Given the description of an element on the screen output the (x, y) to click on. 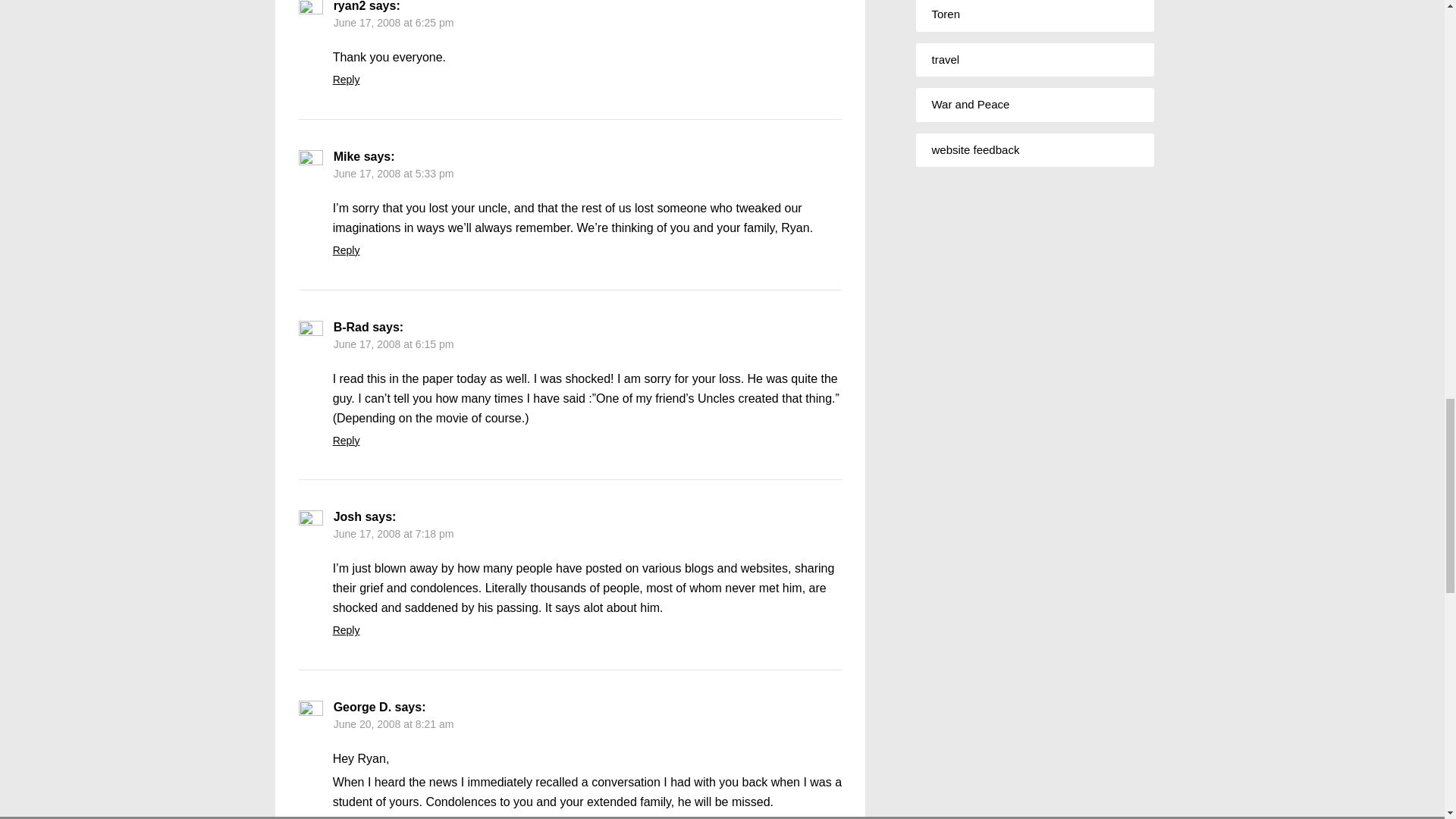
Reply (346, 250)
June 17, 2008 at 5:33 pm (393, 173)
Reply (346, 440)
Reply (346, 630)
June 17, 2008 at 6:15 pm (393, 344)
June 17, 2008 at 6:25 pm (393, 22)
Reply (346, 79)
June 20, 2008 at 8:21 am (393, 724)
June 17, 2008 at 7:18 pm (393, 533)
